Given the description of an element on the screen output the (x, y) to click on. 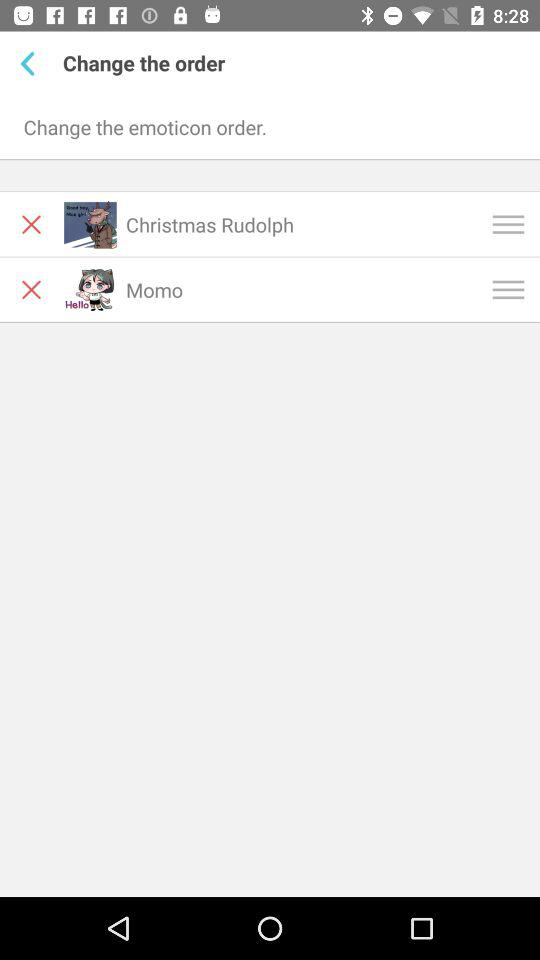
tap the item to the left of change the order item (31, 63)
